Given the description of an element on the screen output the (x, y) to click on. 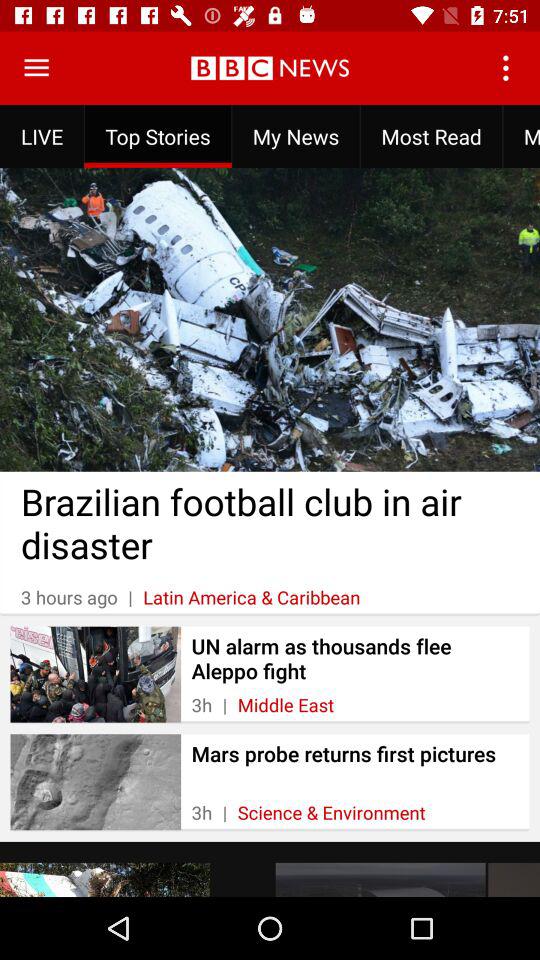
flip to the top stories icon (157, 136)
